Given the description of an element on the screen output the (x, y) to click on. 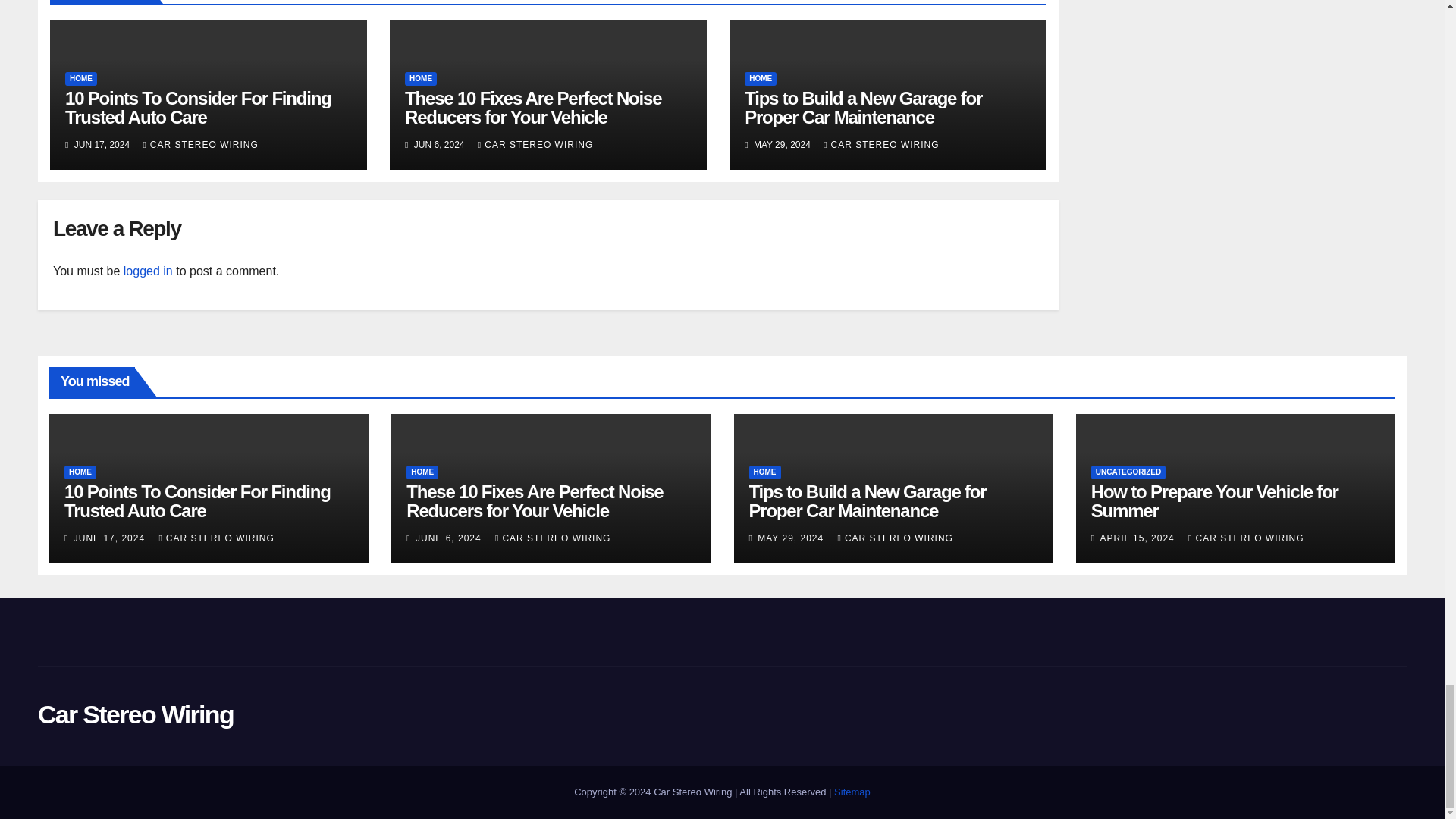
CAR STEREO WIRING (199, 144)
HOME (81, 78)
10 Points To Consider For Finding Trusted Auto Care (198, 107)
